Given the description of an element on the screen output the (x, y) to click on. 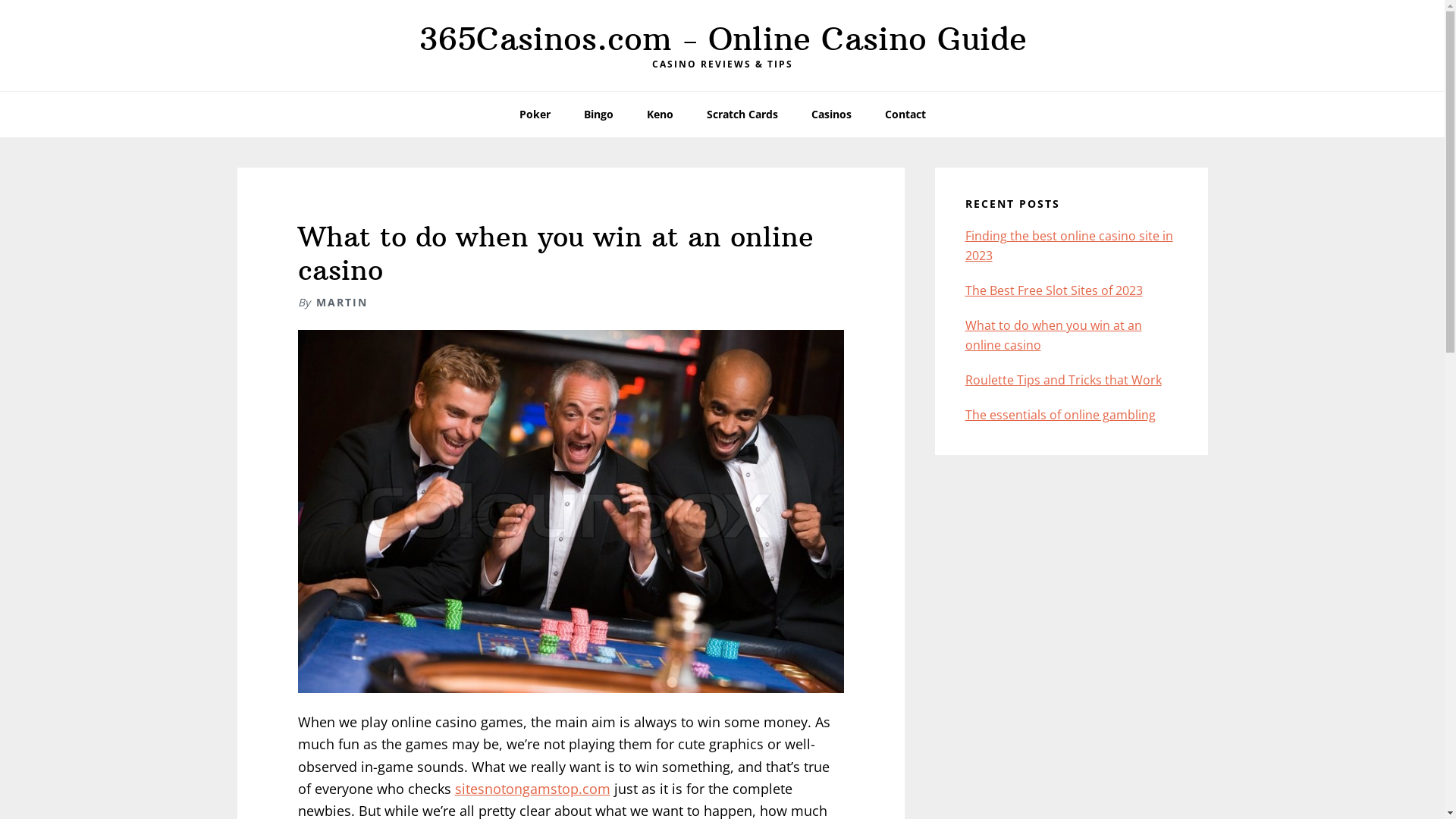
sitesnotongamstop.com Element type: text (532, 788)
What to do when you win at an online casino Element type: text (1052, 334)
The essentials of online gambling Element type: text (1059, 414)
Casinos Element type: text (831, 114)
Keno Element type: text (658, 114)
MARTIN Element type: text (341, 301)
Finding the best online casino site in 2023 Element type: text (1068, 245)
Contact Element type: text (904, 114)
365Casinos.com - Online Casino Guide Element type: text (722, 38)
Skip to primary navigation Element type: text (0, 0)
The Best Free Slot Sites of 2023 Element type: text (1053, 290)
Poker Element type: text (533, 114)
Scratch Cards Element type: text (742, 114)
Roulette Tips and Tricks that Work Element type: text (1062, 379)
Bingo Element type: text (598, 114)
